Given the description of an element on the screen output the (x, y) to click on. 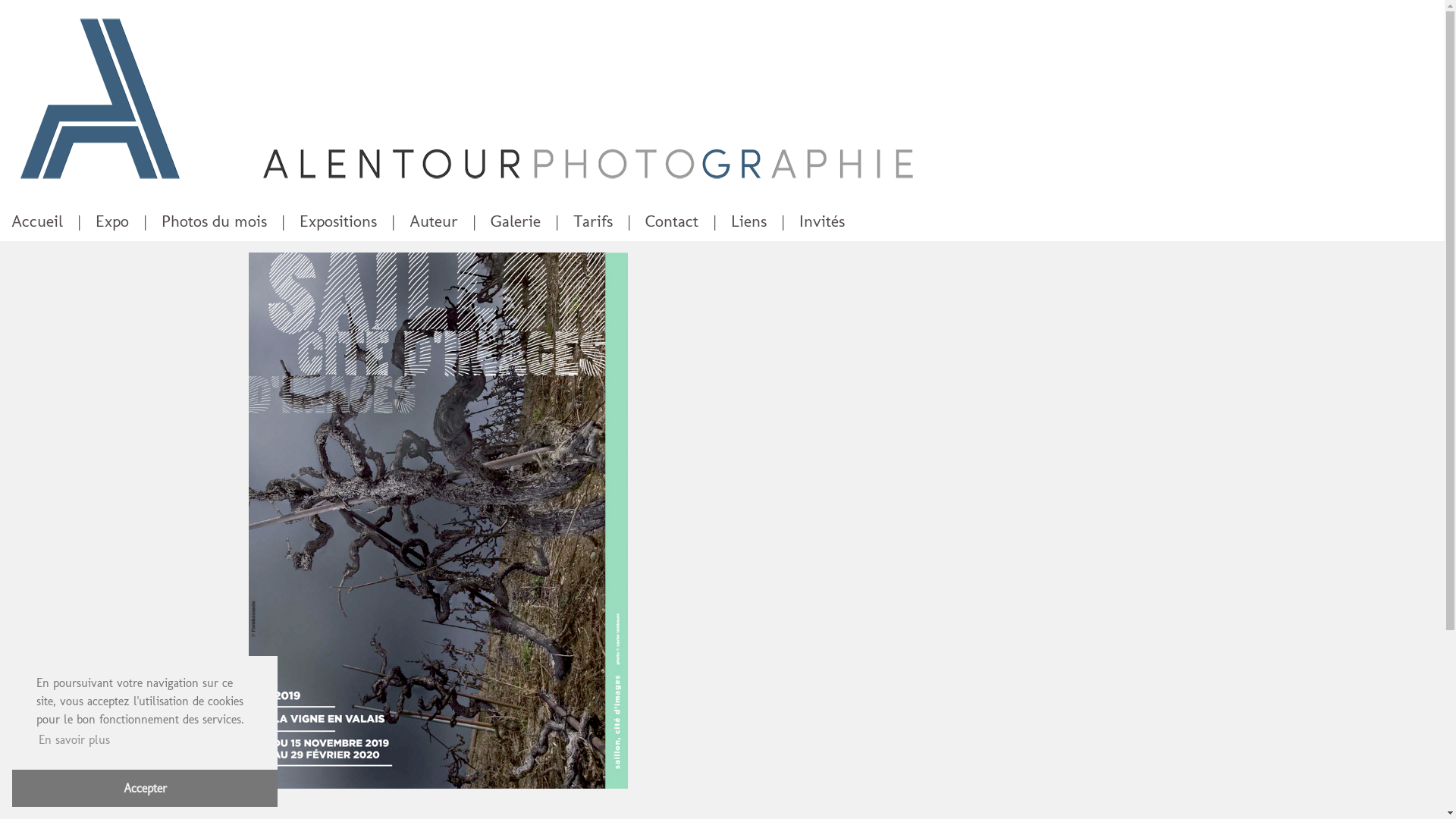
Accepter Element type: text (144, 787)
Expositions Element type: text (337, 220)
Contact Element type: text (671, 220)
Auteur Element type: text (433, 220)
Liens Element type: text (748, 220)
Photos du mois Element type: text (213, 220)
Tarifs Element type: text (592, 220)
Accueil Element type: text (36, 220)
En savoir plus Element type: text (74, 739)
alentour.ch Element type: hover (722, 98)
Expo Element type: text (111, 220)
Galerie Element type: text (515, 220)
